Given the description of an element on the screen output the (x, y) to click on. 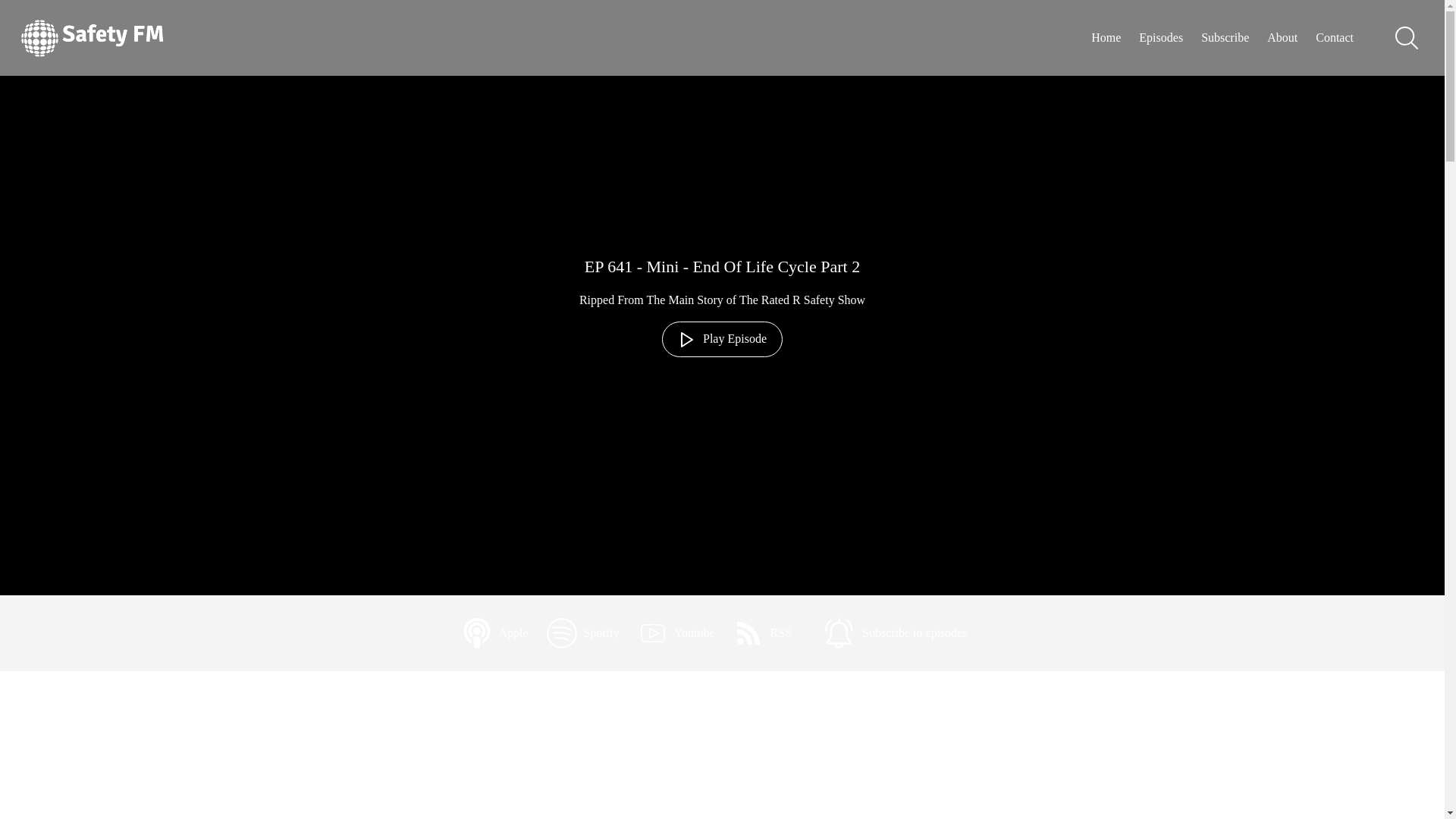
Subscribe to episodes (895, 633)
Episodes (1160, 37)
Contact (1335, 37)
Youtube (675, 632)
Spotify (583, 632)
About (1281, 37)
Play Episode (722, 339)
Apple (494, 632)
Subscribe (1225, 37)
Home (1105, 37)
RSS (762, 632)
